Given the description of an element on the screen output the (x, y) to click on. 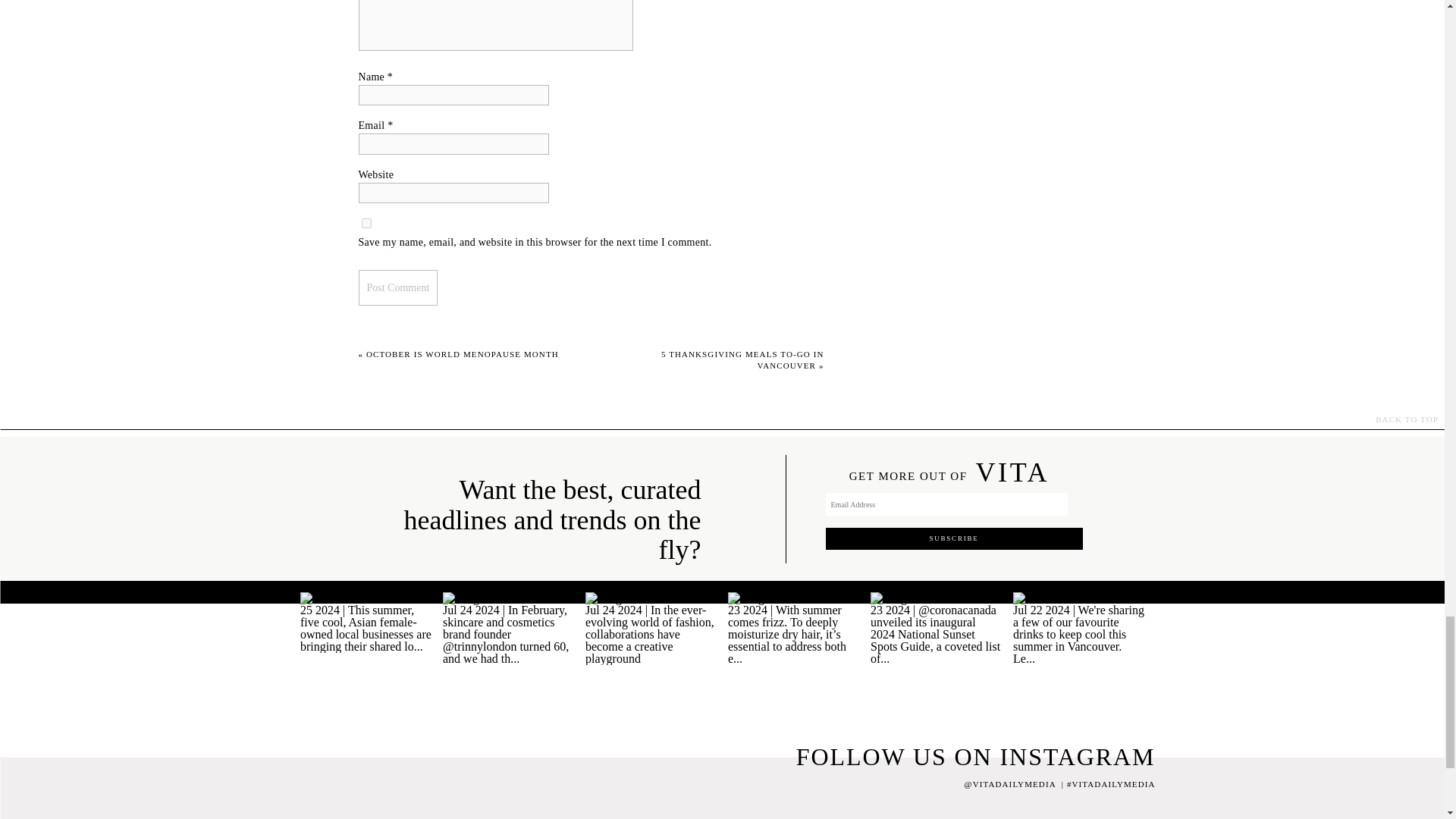
Post Comment (398, 287)
Subscribe (953, 538)
yes (366, 223)
